Given the description of an element on the screen output the (x, y) to click on. 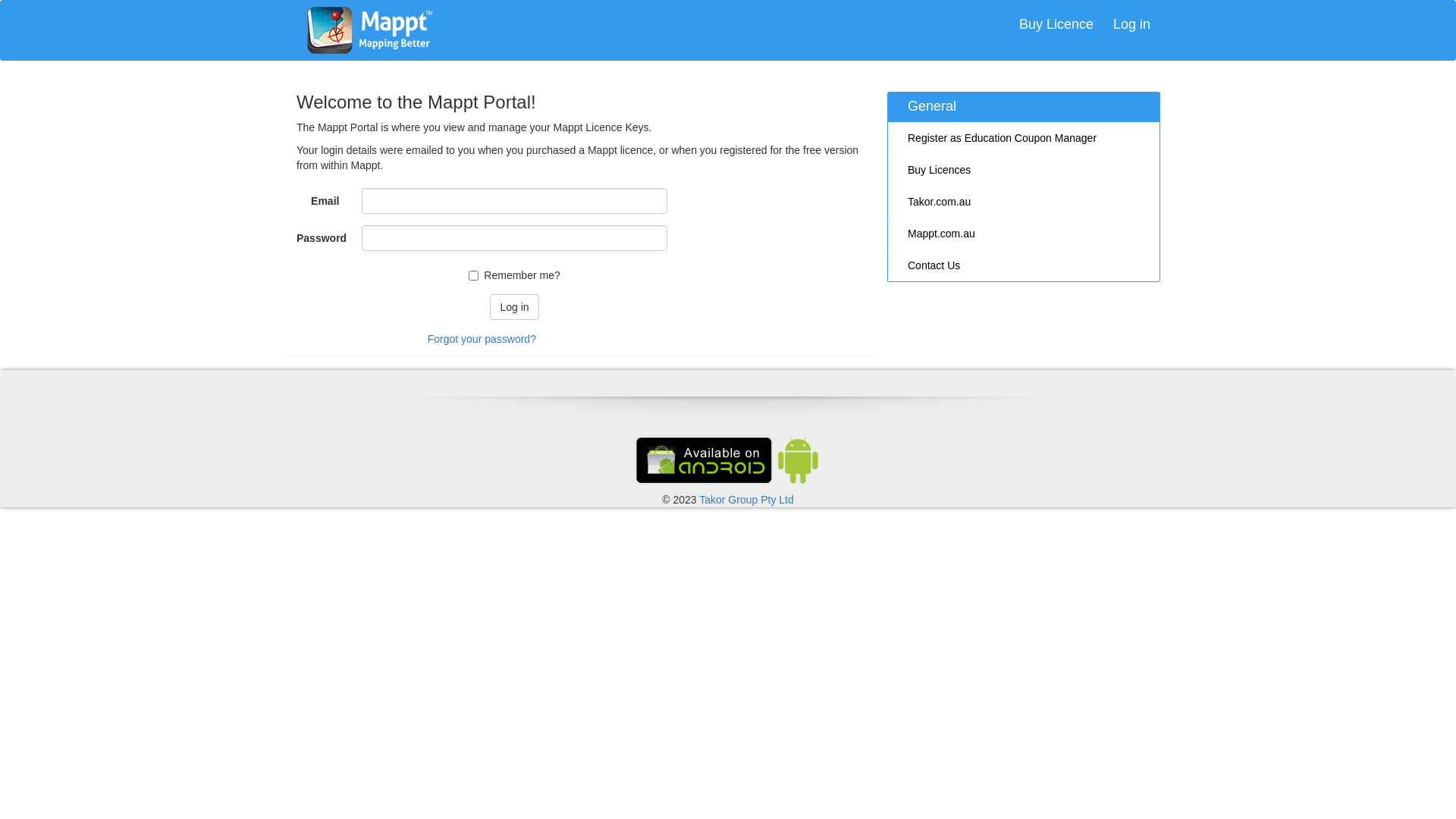
Log in Element type: text (1131, 24)
Takor.com.au Element type: text (1023, 201)
Log in Element type: text (513, 307)
Register as Education Coupon Manager Element type: text (1023, 137)
Buy Licences Element type: text (1023, 169)
Mappt.com.au Element type: text (1023, 233)
Takor Group Pty Ltd Element type: text (746, 499)
Forgot your password? Element type: text (481, 338)
Contact Us Element type: text (1023, 265)
Buy Licence Element type: text (1056, 24)
